Given the description of an element on the screen output the (x, y) to click on. 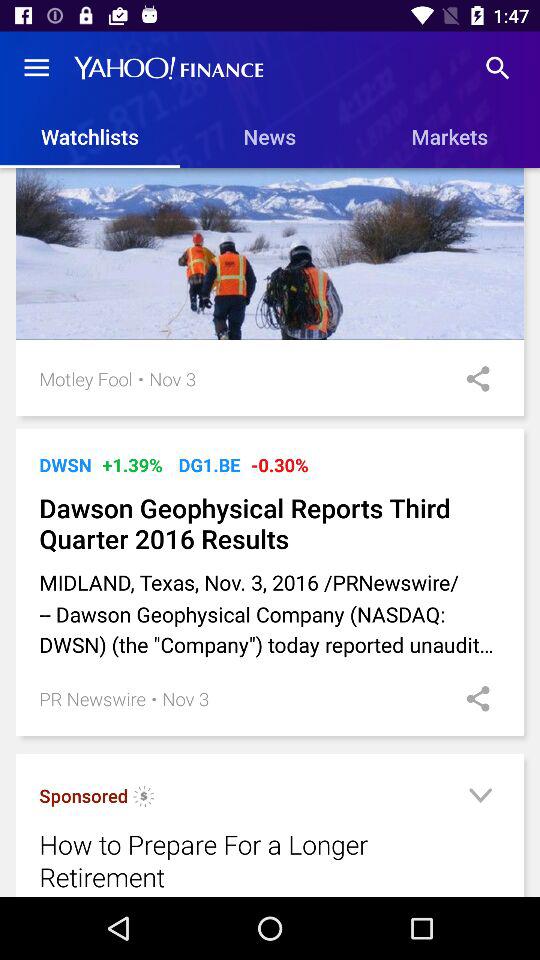
flip until midland texas nov (269, 613)
